Given the description of an element on the screen output the (x, y) to click on. 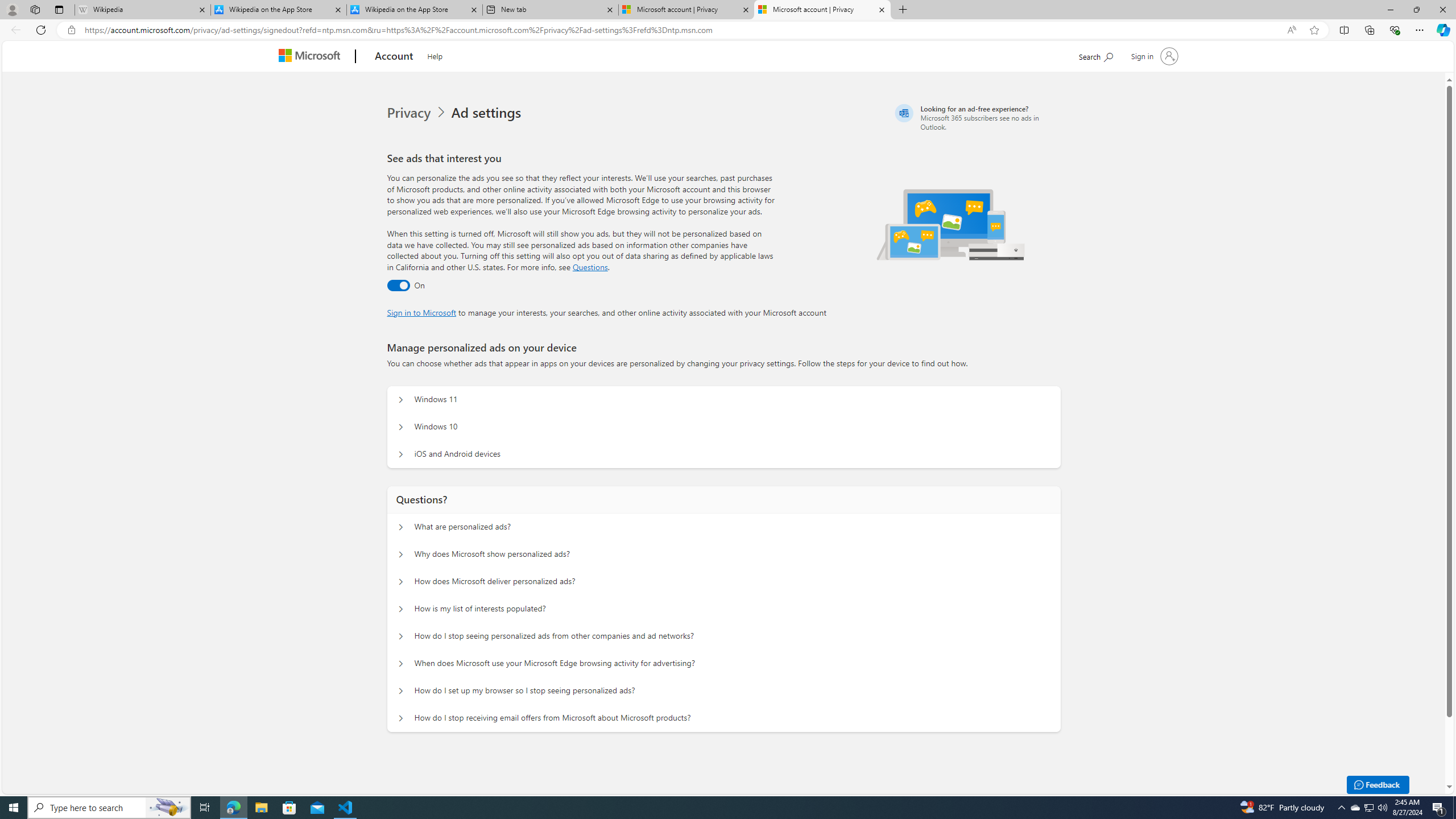
Questions? What are personalized ads? (401, 526)
Account (394, 56)
Microsoft (311, 56)
Manage personalized ads on your device Windows 10 (401, 427)
Questions? How does Microsoft deliver personalized ads? (401, 581)
